Given the description of an element on the screen output the (x, y) to click on. 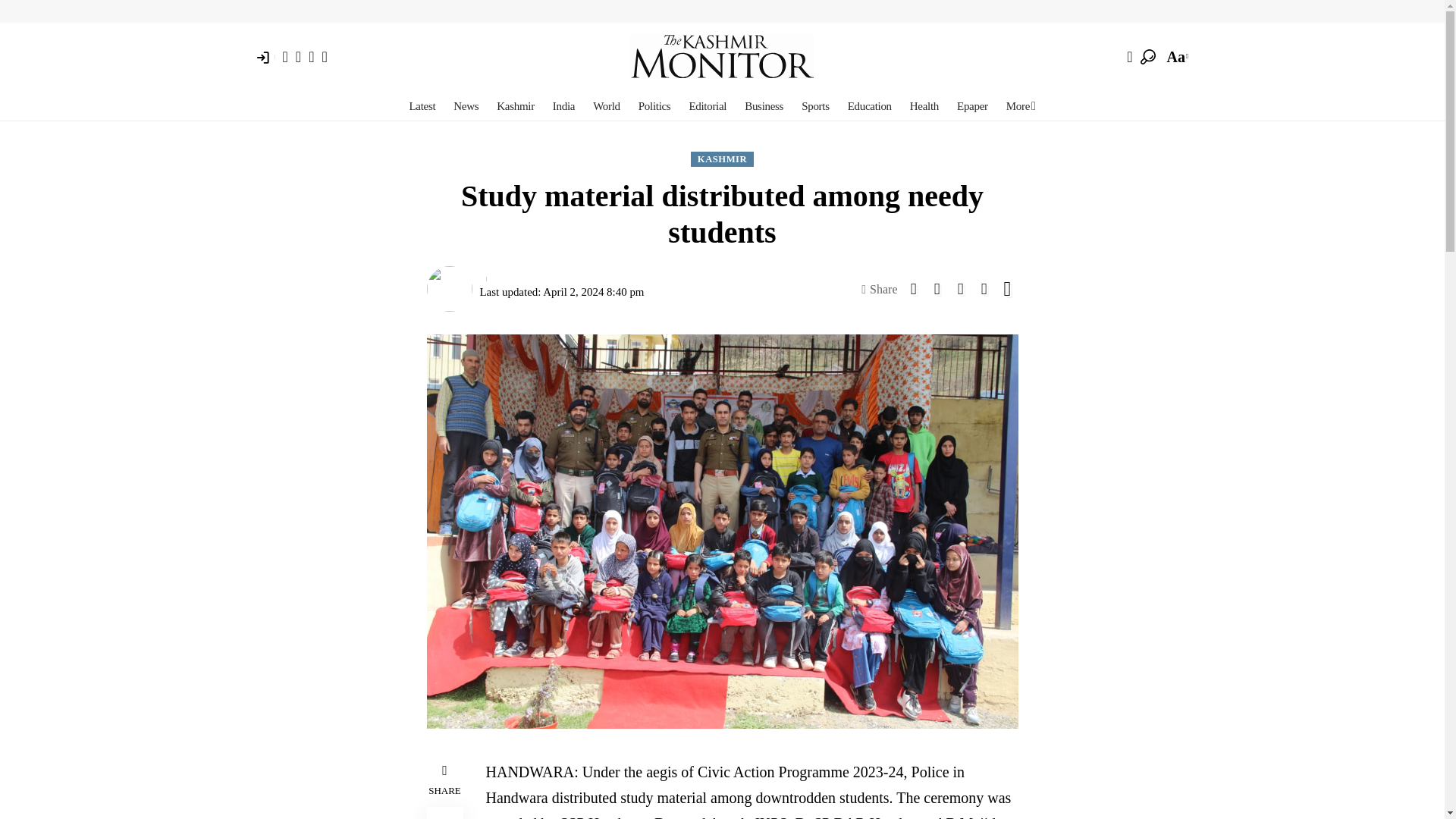
More (1021, 105)
Education (869, 105)
Health (924, 105)
Epaper (972, 105)
Kashmir (515, 105)
Aa (1176, 56)
World (605, 105)
Latest (421, 105)
Sports (815, 105)
The Kashmir Monitor (721, 56)
